Given the description of an element on the screen output the (x, y) to click on. 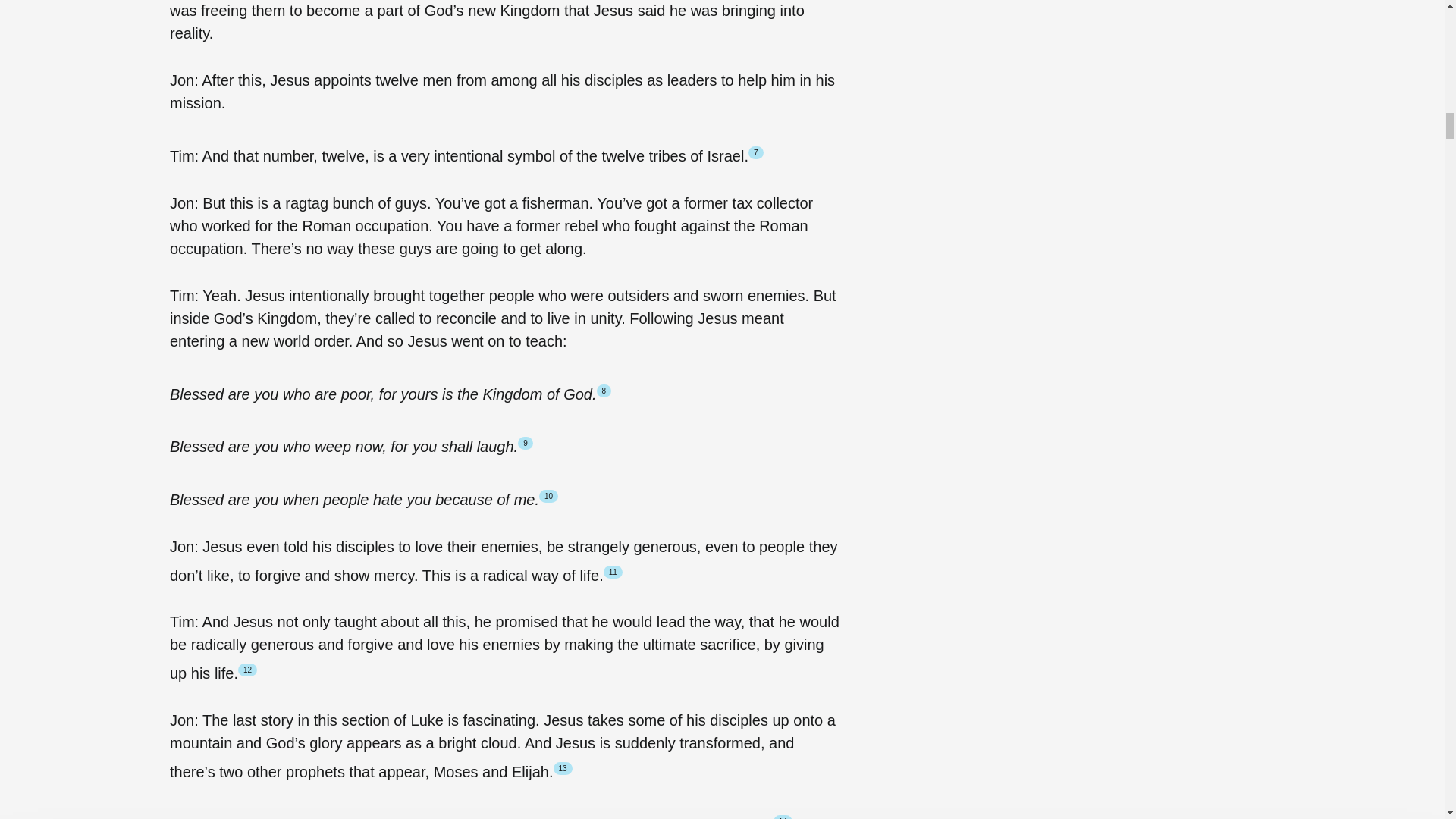
11 (613, 571)
9 (525, 442)
12 (247, 669)
13 (562, 768)
14 (782, 816)
10 (547, 495)
8 (603, 390)
7 (755, 152)
